Given the description of an element on the screen output the (x, y) to click on. 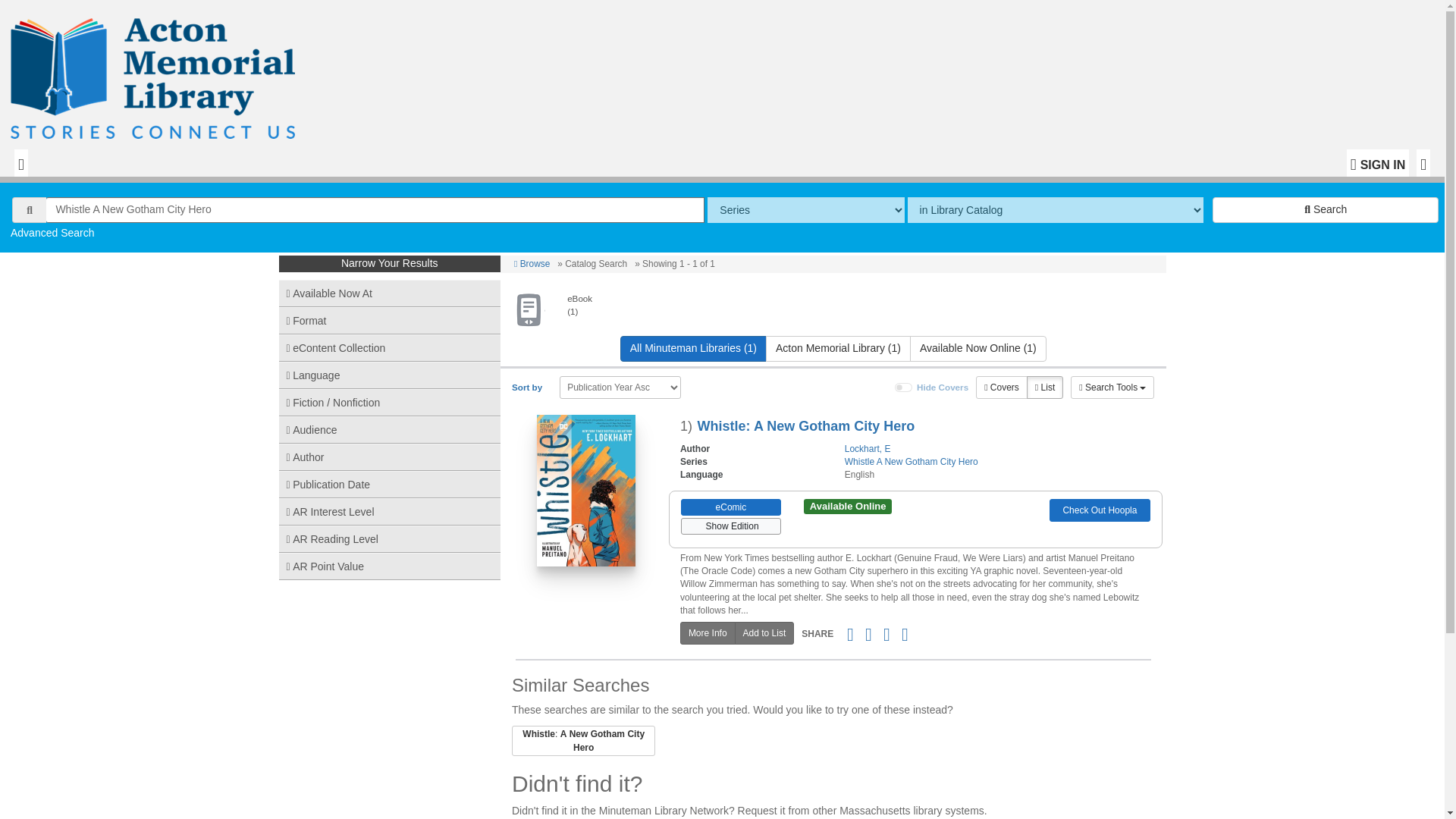
Login (1377, 162)
The method of searching. (805, 209)
Advanced Search (52, 232)
on (903, 387)
Browse the catalog (531, 263)
Whistle A New Gotham City Hero (375, 209)
Library Home Page (156, 74)
SIGN IN (1377, 162)
 Search (1325, 209)
